Given the description of an element on the screen output the (x, y) to click on. 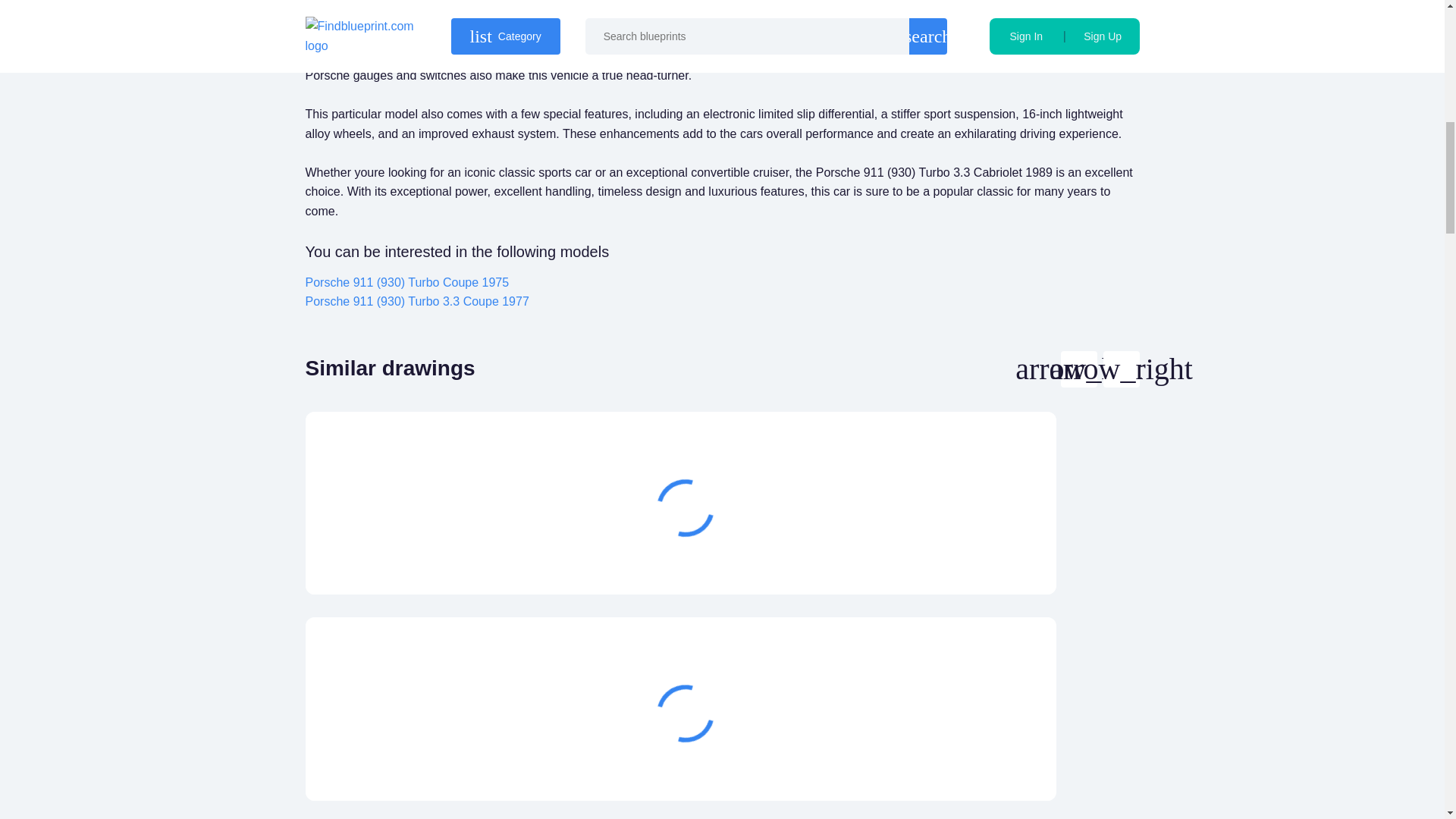
More (962, 557)
More (962, 764)
